Given the description of an element on the screen output the (x, y) to click on. 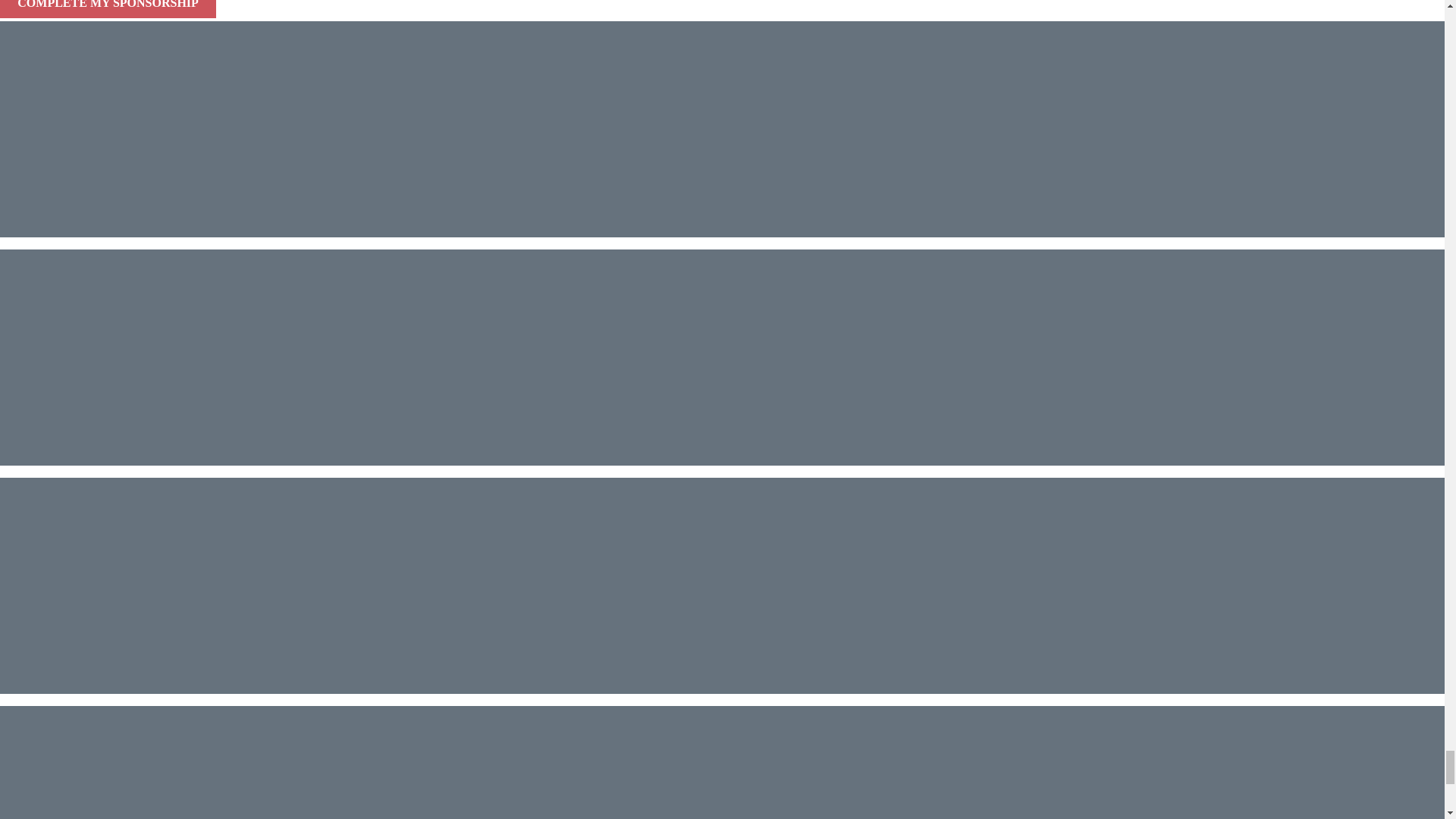
Lifesong Farms - Denis and Emmanuel.mp4 (219, 762)
The Journey to Lifesong... (219, 355)
